Given the description of an element on the screen output the (x, y) to click on. 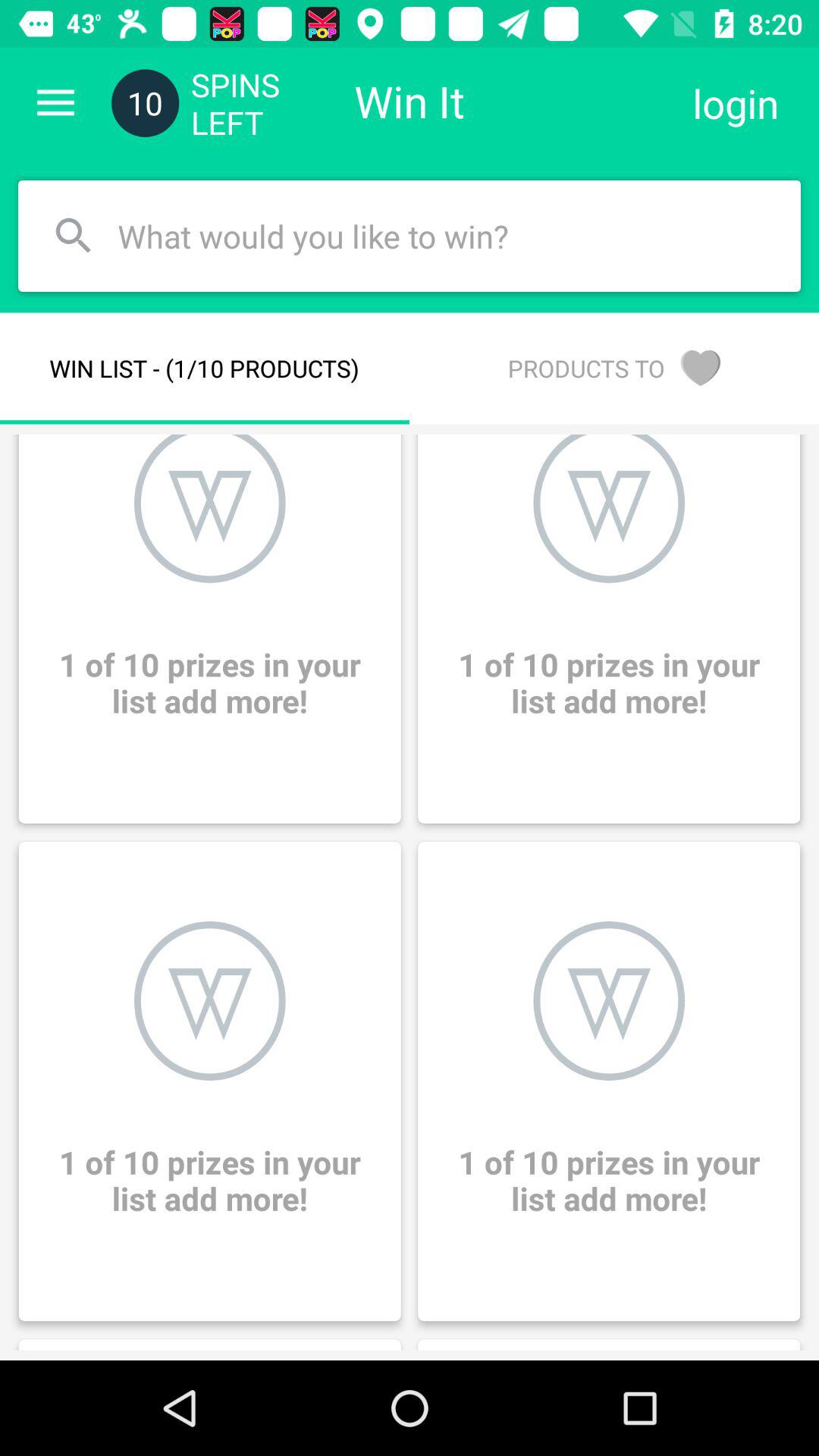
press the login icon (735, 102)
